Given the description of an element on the screen output the (x, y) to click on. 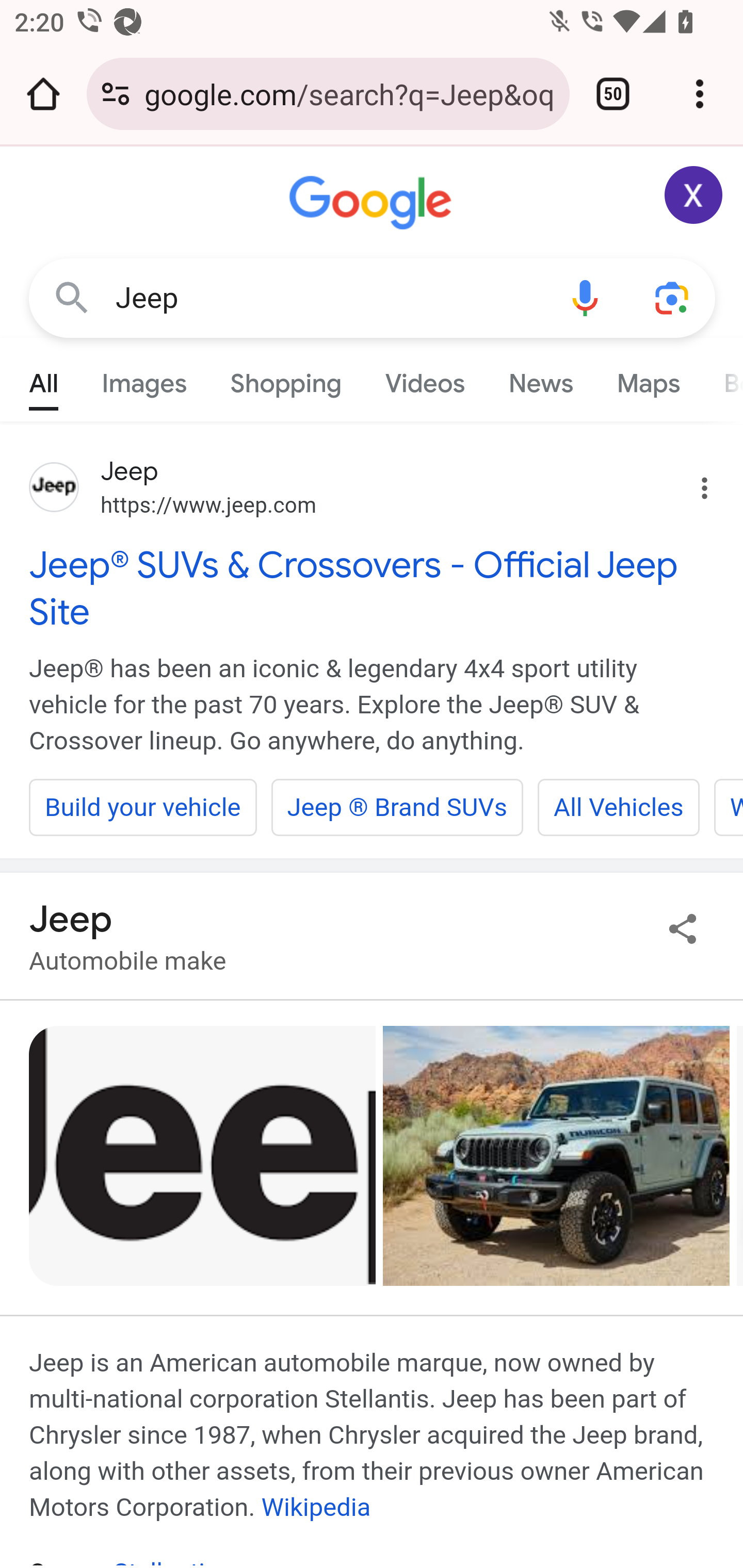
Open the home page (43, 93)
Connection is secure (115, 93)
Switch or close tabs (612, 93)
Customize and control Google Chrome (699, 93)
Google (372, 203)
Google Account: Xiaoran (zxrappiumtest@gmail.com) (694, 195)
Google Search (71, 296)
Search using your camera or photos (672, 296)
Jeep (328, 297)
Images (144, 378)
Shopping (285, 378)
Videos (424, 378)
News (540, 378)
Maps (647, 378)
Jeep® SUVs & Crossovers - Official Jeep Site (372, 587)
Build your vehicle (142, 807)
Jeep ® Brand SUVs (397, 807)
All Vehicles (618, 807)
Share (683, 928)
Wikipedia (316, 1507)
